Given the description of an element on the screen output the (x, y) to click on. 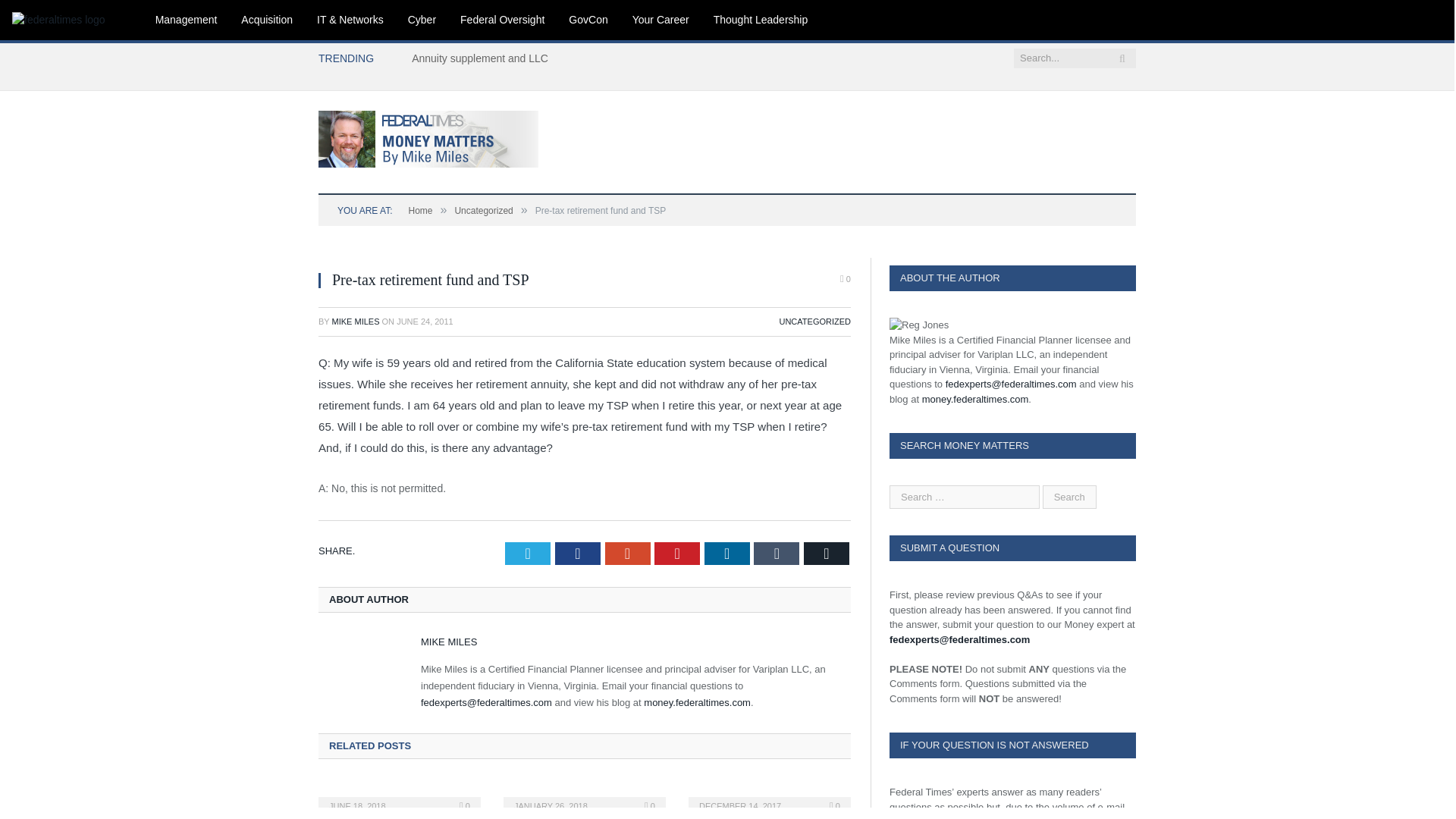
LinkedIn (726, 553)
TSP fund distributions (399, 796)
Management (186, 19)
Your Career (660, 19)
Email (825, 553)
money.federaltimes.com (697, 702)
Ask The Experts: Money Matters (428, 136)
Annuity supplement and LLC (484, 58)
Search (1069, 496)
MIKE MILES (448, 641)
Cyber (422, 19)
Twitter (527, 553)
UNCATEGORIZED (814, 320)
Annuity supplement and LLC (484, 58)
Acquisition (266, 19)
